Given the description of an element on the screen output the (x, y) to click on. 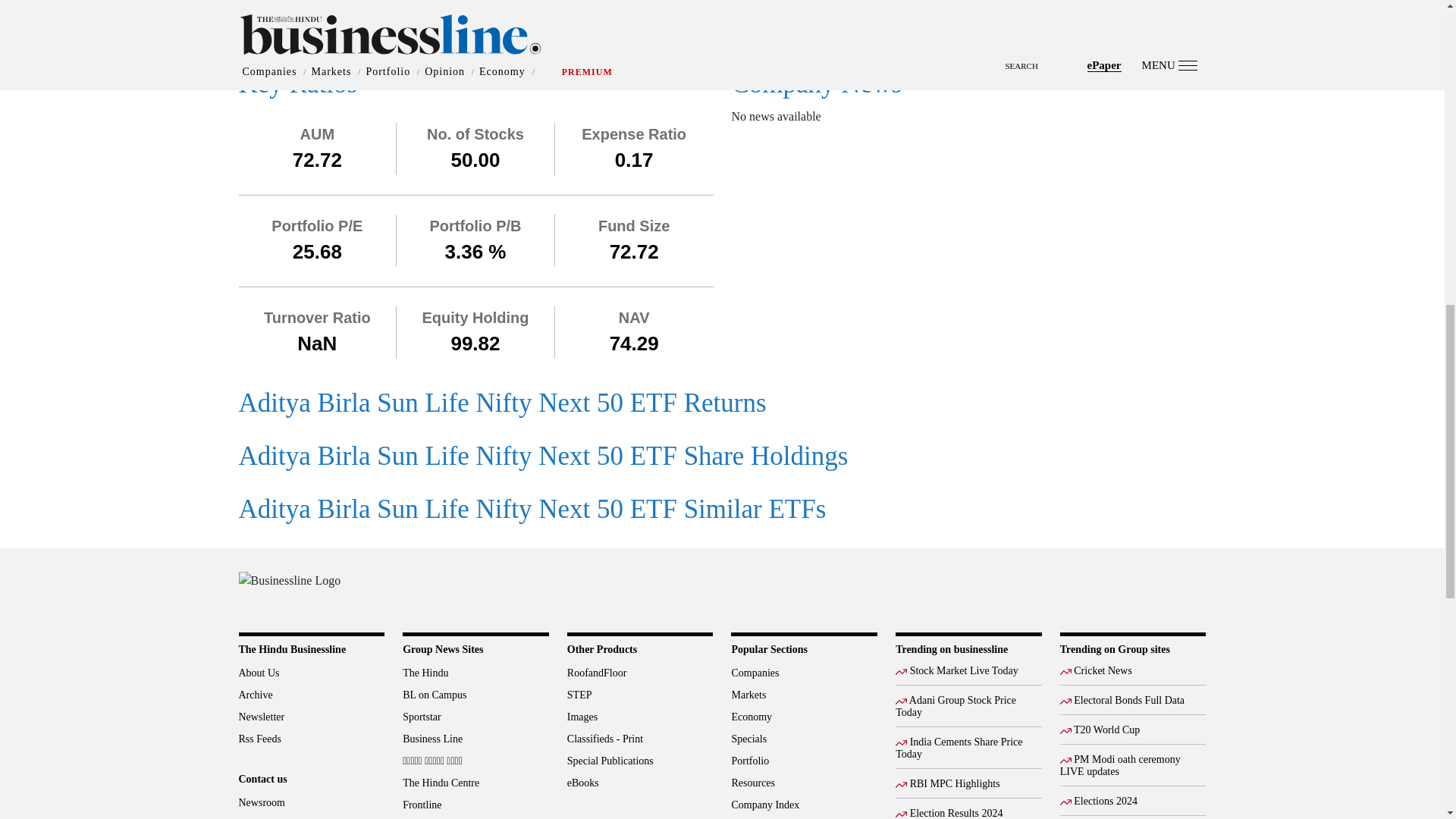
Apple Store (1180, 588)
Google Play (1130, 588)
